Given the description of an element on the screen output the (x, y) to click on. 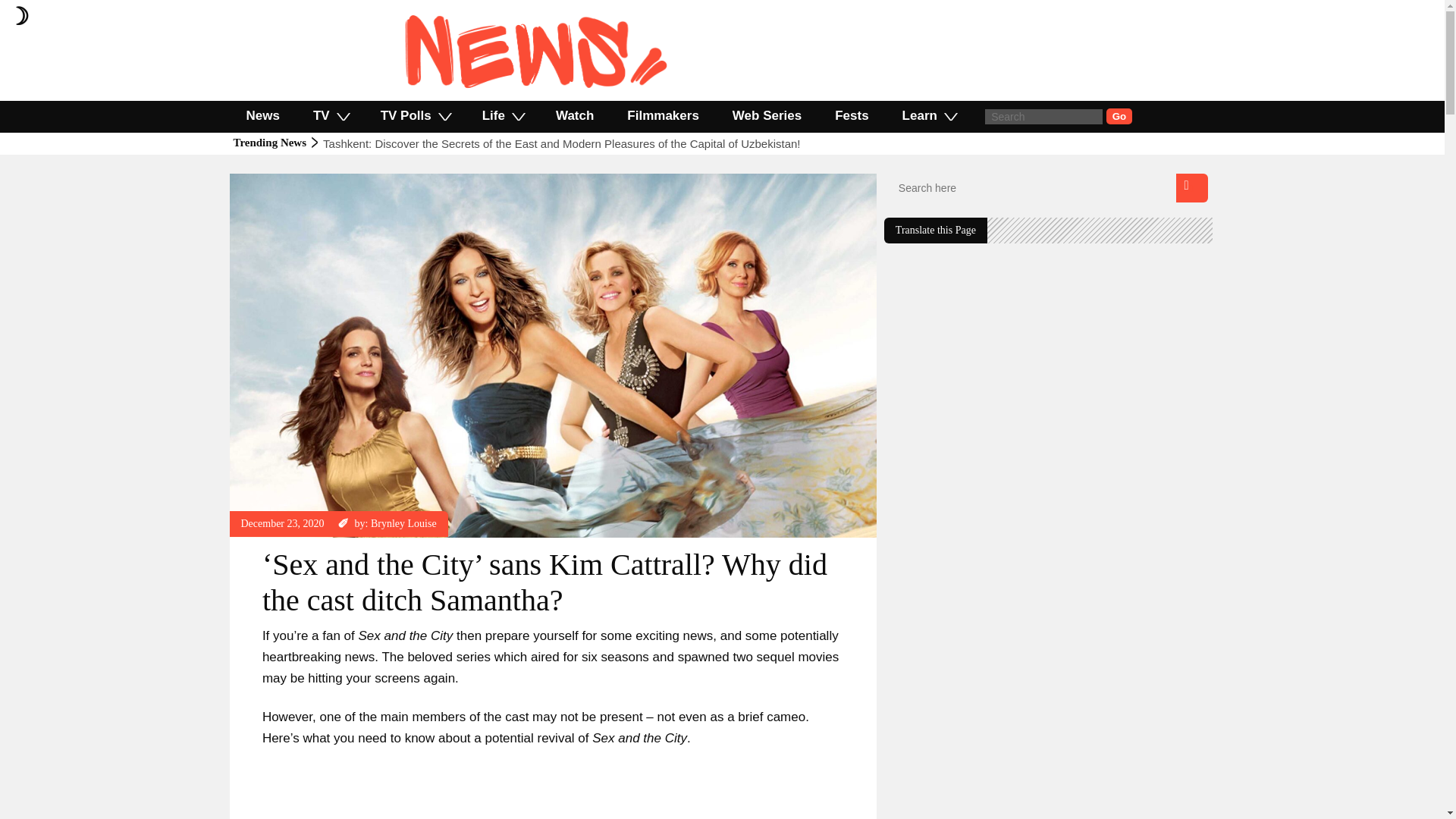
Lifestyle (259, 180)
Life (501, 115)
Go (1119, 116)
News (297, 180)
TV Polls (414, 115)
Web Series (767, 115)
Fests (851, 115)
TV (330, 115)
Go (1119, 116)
Filmmakers (663, 115)
